Given the description of an element on the screen output the (x, y) to click on. 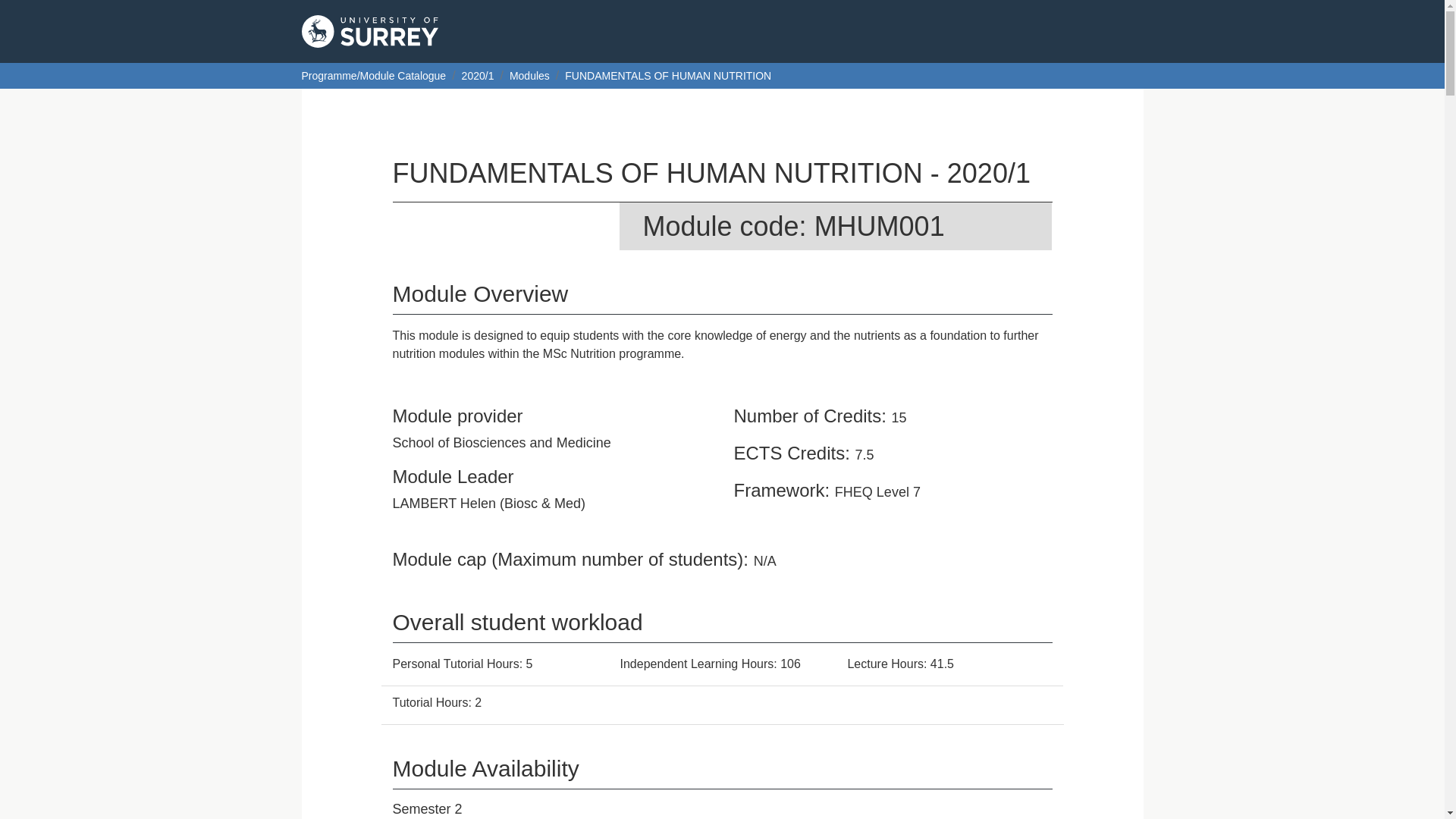
FUNDAMENTALS OF HUMAN NUTRITION (667, 75)
Surrey University, Module Catalogue Homepage (369, 31)
Modules (529, 75)
